Given the description of an element on the screen output the (x, y) to click on. 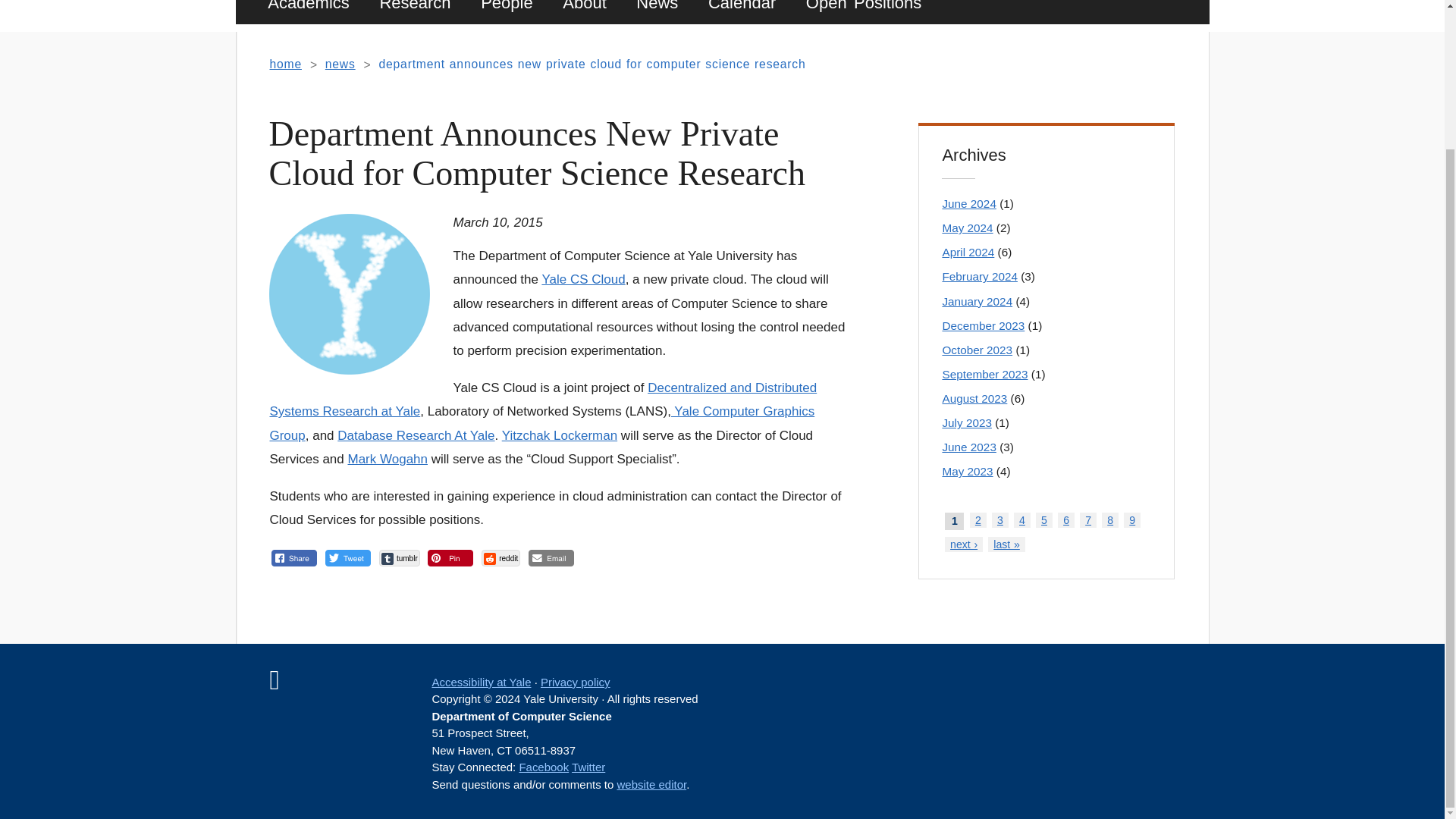
May 2024 (967, 227)
7 (1088, 519)
August 2023 (974, 398)
3 (1000, 519)
June 2023 (968, 446)
home (285, 63)
5 (1043, 519)
Go to last page (1006, 544)
Go to next page (963, 544)
Mark Wogahn (387, 459)
Go to page 3 (1000, 519)
news (339, 63)
Go to page 7 (1088, 519)
About (584, 12)
Yale Computer Graphics Group (541, 423)
